Given the description of an element on the screen output the (x, y) to click on. 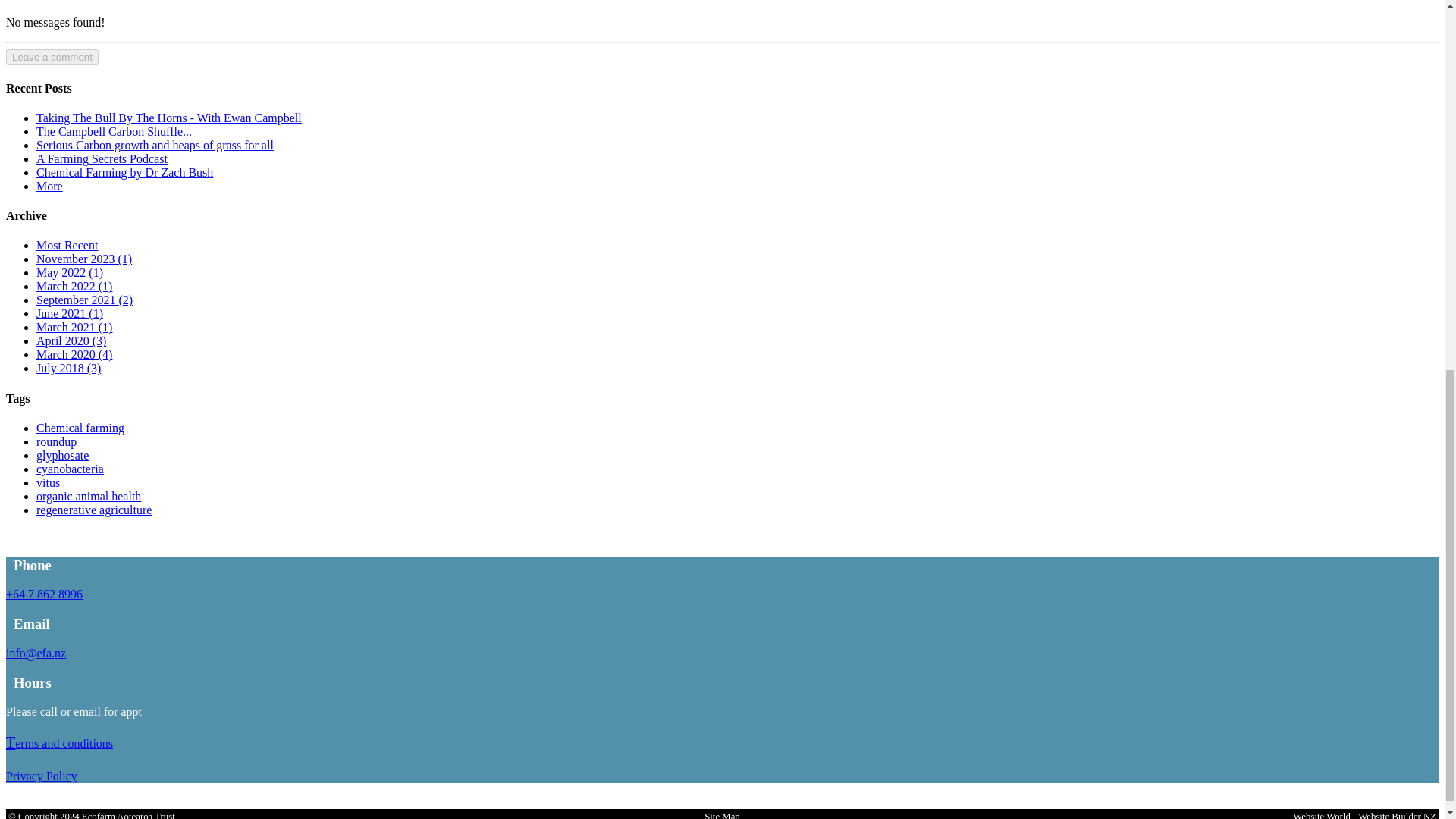
A Farming Secrets Podcast (101, 158)
Leave a comment (52, 57)
More (49, 185)
Most Recent (66, 245)
Serious Carbon growth and heaps of grass for all (154, 144)
Taking The Bull By The Horns - With Ewan Campbell (168, 117)
The Campbell Carbon Shuffle... (114, 131)
Chemical Farming by Dr Zach Bush (124, 172)
